Given the description of an element on the screen output the (x, y) to click on. 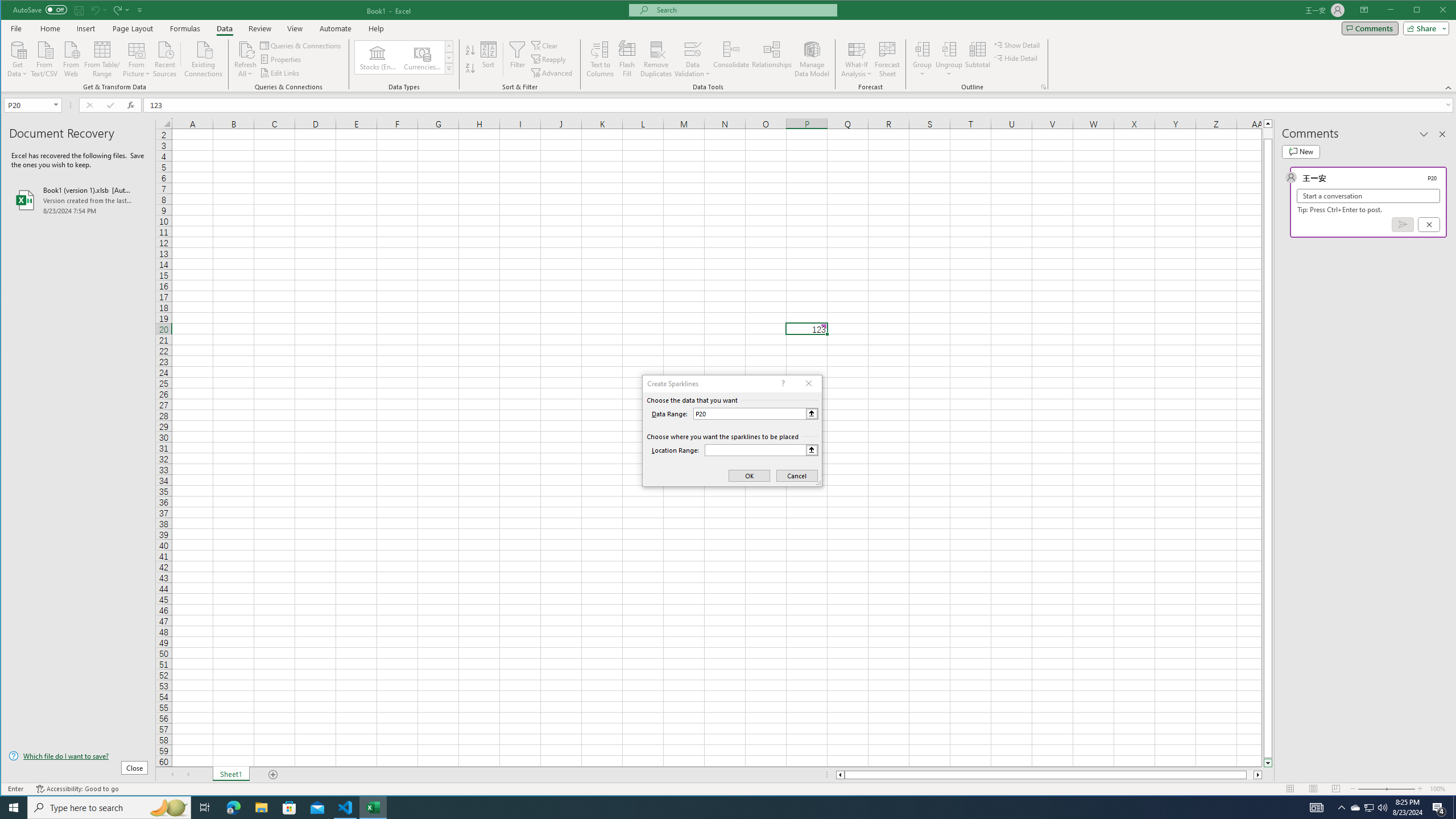
From Web (70, 57)
From Picture (136, 57)
Advanced... (552, 72)
Data Types (448, 68)
Page up (1267, 132)
